Given the description of an element on the screen output the (x, y) to click on. 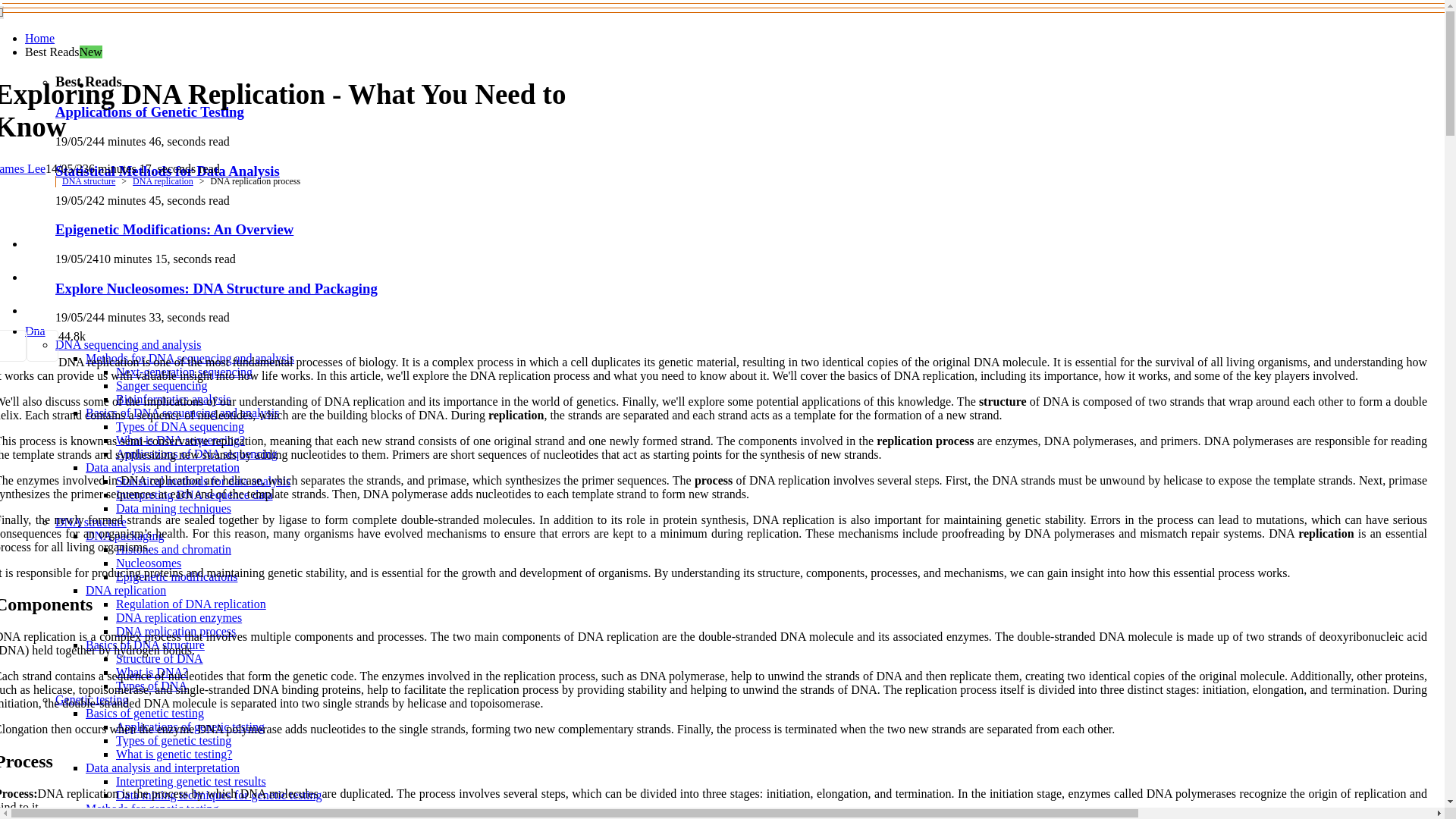
Structure of DNA (159, 658)
Epigenetic modifications (176, 576)
Next-generation sequencing (183, 371)
DNA packaging (124, 535)
Histones and chromatin (173, 549)
Statistical Methods for Data Analysis (167, 170)
Bioinformatics analysis (173, 399)
Dna (34, 330)
DNA sequencing and analysis (127, 344)
Sanger sequencing (161, 385)
